Given the description of an element on the screen output the (x, y) to click on. 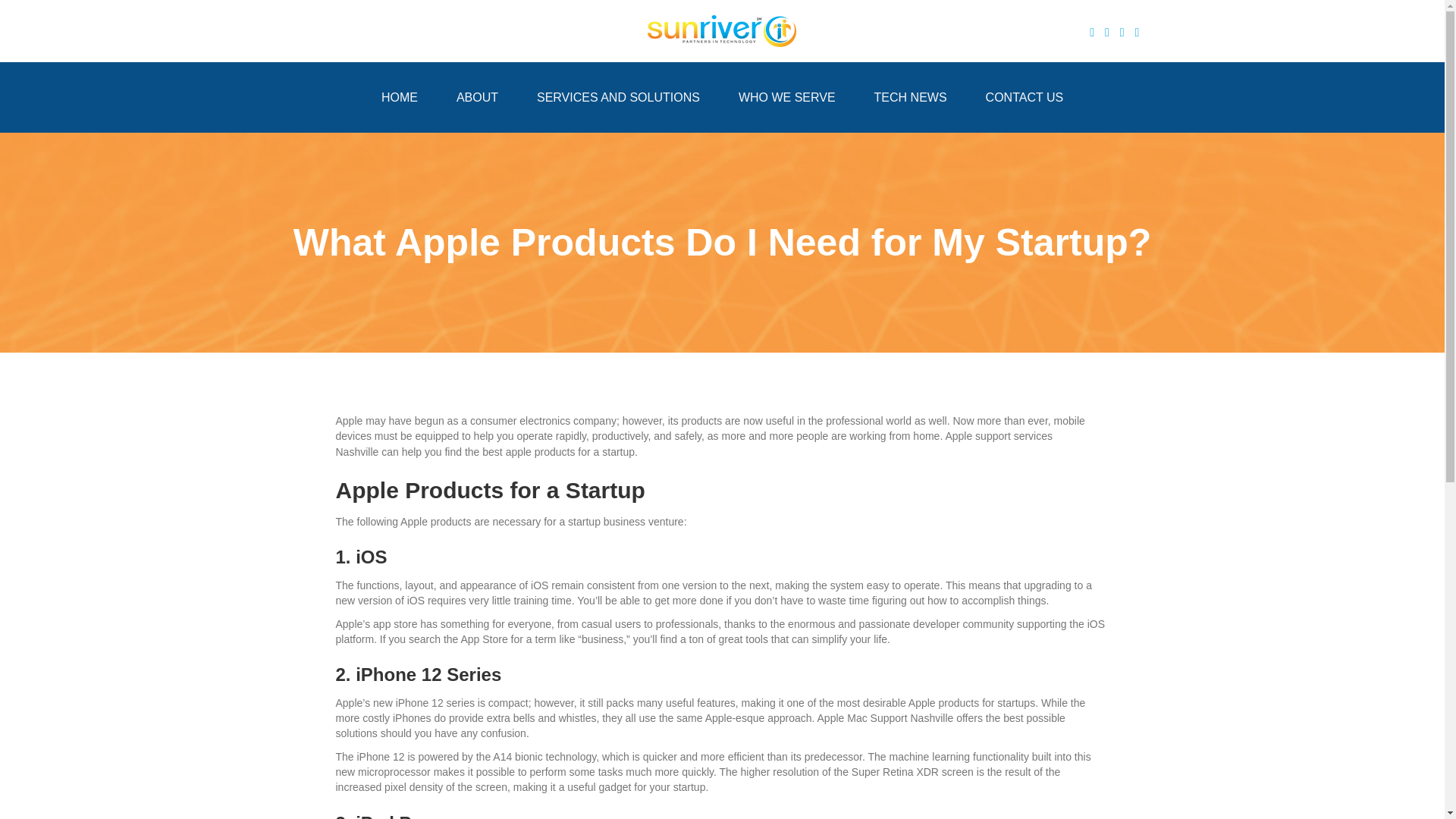
CONTACT US (1024, 96)
TECH NEWS (911, 96)
ABOUT (477, 96)
logo (721, 30)
WHO WE SERVE (786, 96)
HOME (399, 96)
SERVICES AND SOLUTIONS (618, 96)
